Given the description of an element on the screen output the (x, y) to click on. 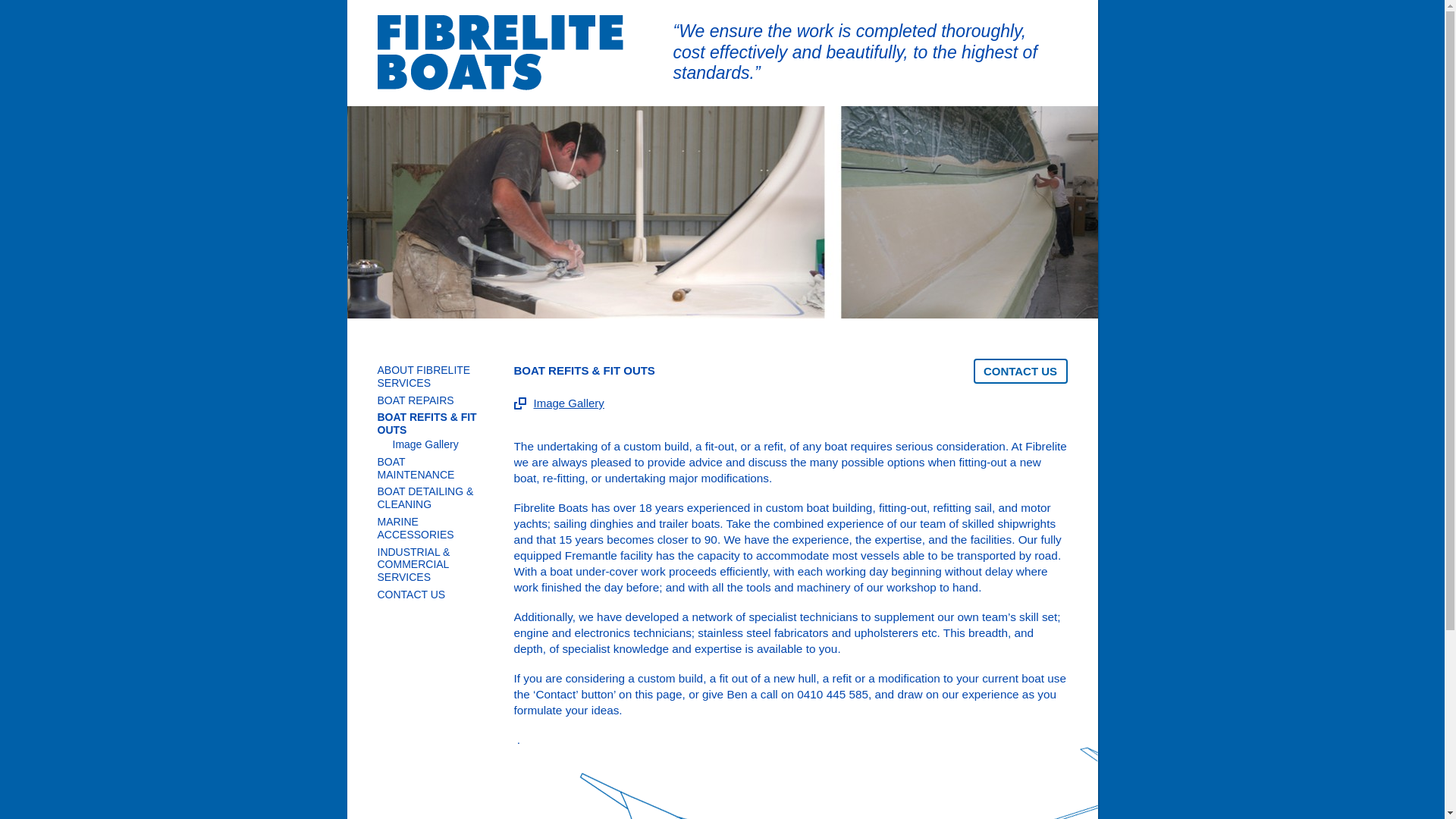
BOAT REPAIRS Element type: text (430, 400)
BOAT MAINTENANCE Element type: text (430, 468)
MARINE ACCESSORIES Element type: text (430, 528)
Fibrelite Boats Element type: text (500, 52)
Refits and Fit Outs Element type: hover (722, 212)
Image Gallery Element type: text (437, 444)
CONTACT US Element type: text (1020, 370)
CONTACT US Element type: text (430, 594)
INDUSTRIAL & COMMERCIAL SERVICES Element type: text (430, 564)
ABOUT FIBRELITE SERVICES Element type: text (430, 376)
BOAT REFITS & FIT OUTS Element type: text (430, 423)
Image Gallery Element type: text (559, 403)
BOAT DETAILING & CLEANING Element type: text (430, 498)
